Given the description of an element on the screen output the (x, y) to click on. 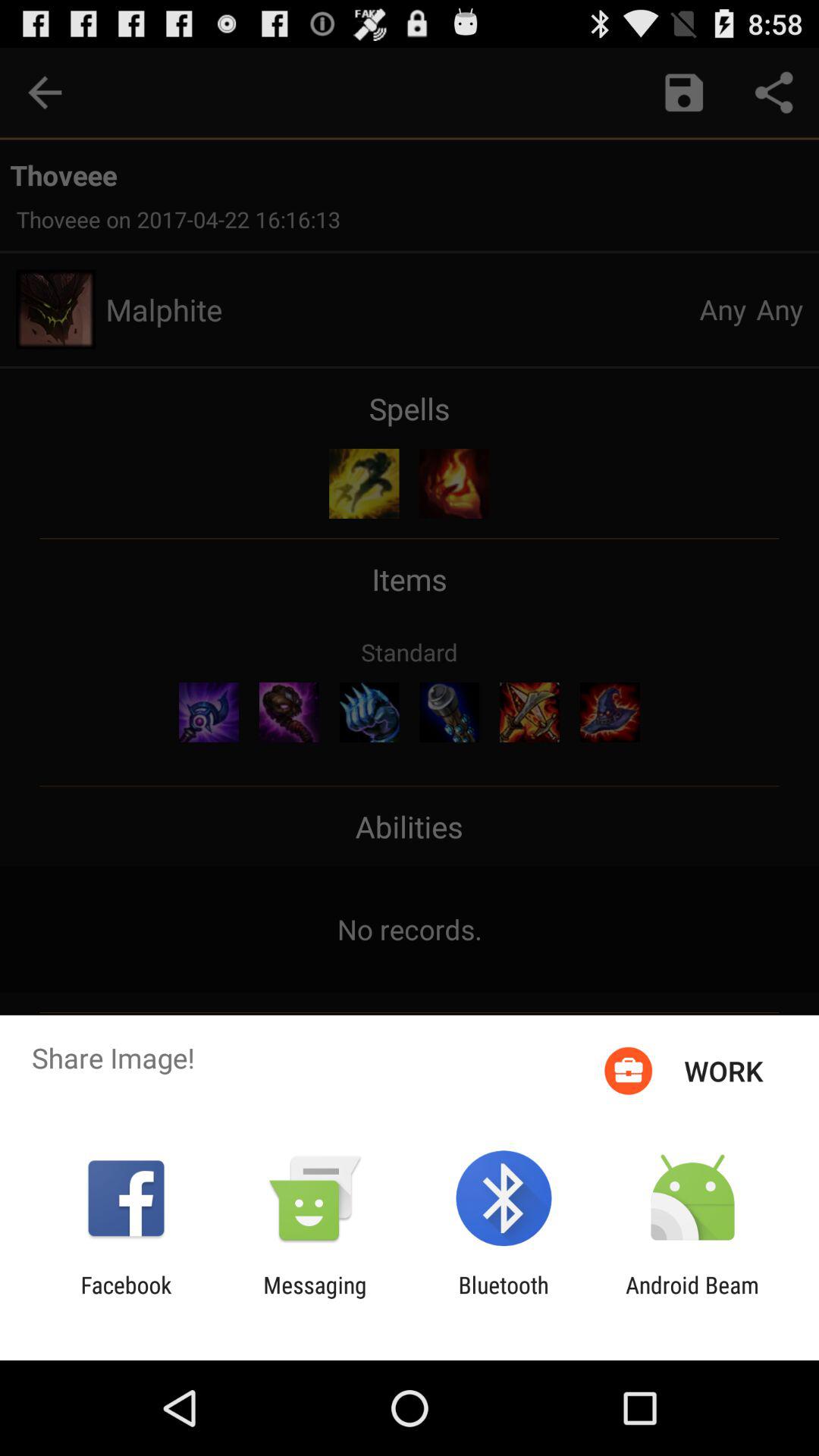
open item next to the messaging (125, 1298)
